Given the description of an element on the screen output the (x, y) to click on. 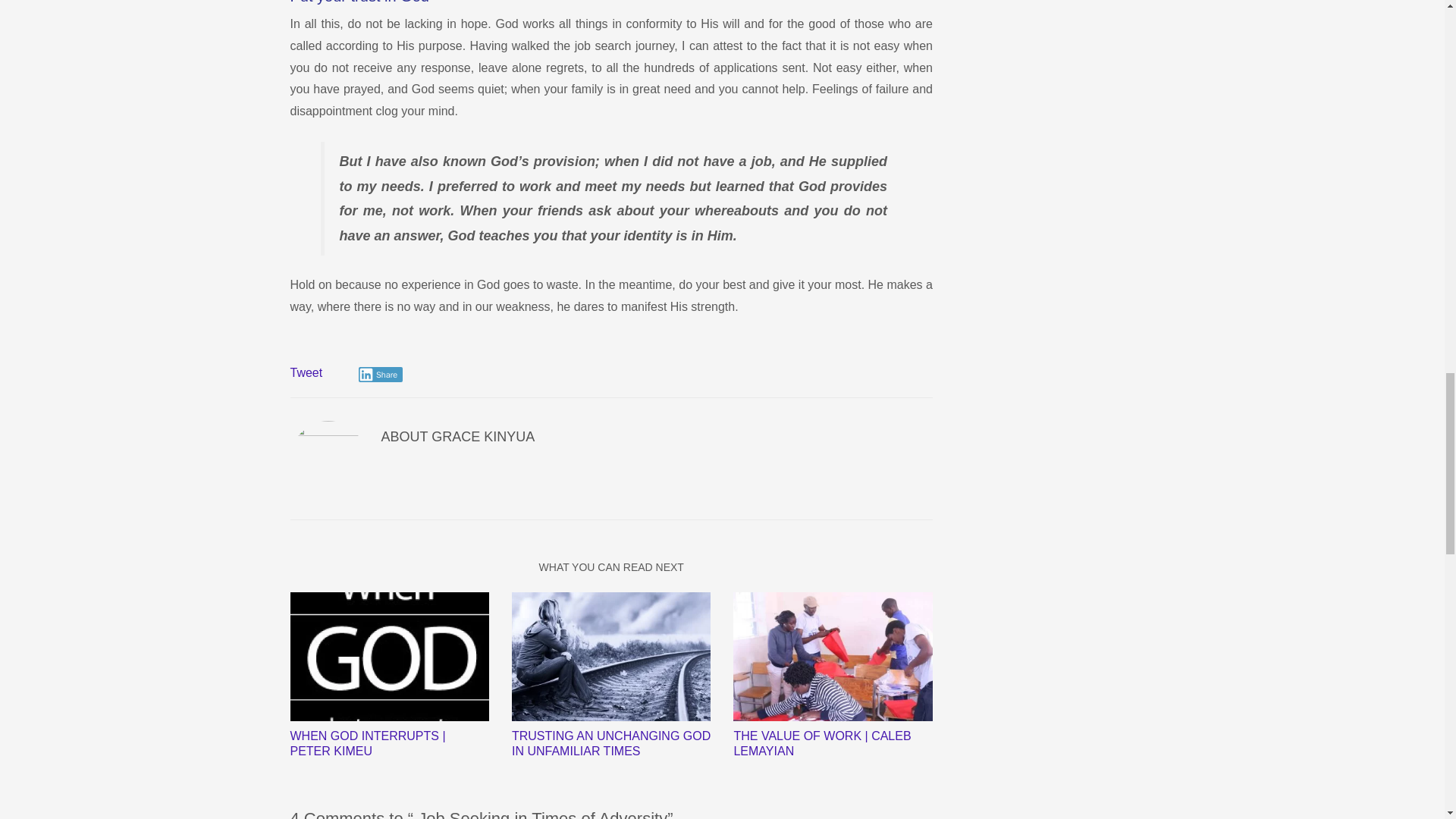
When-God-interrupts (388, 656)
Importance-of-work (832, 656)
Despair (611, 656)
